Given the description of an element on the screen output the (x, y) to click on. 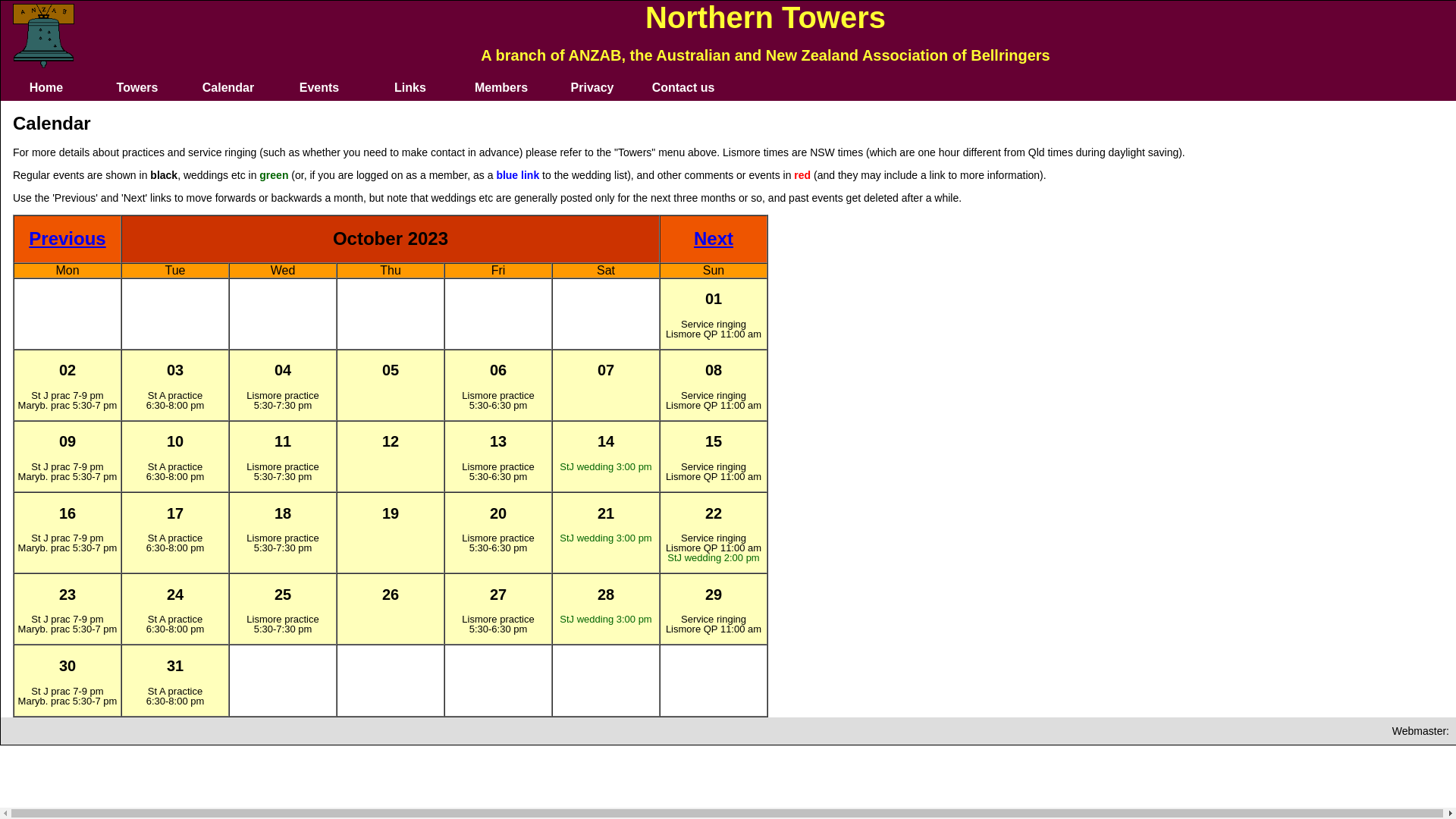
Privacy Element type: text (591, 87)
Home Element type: text (45, 87)
Previous Element type: text (66, 238)
Events Element type: text (318, 87)
Members Element type: text (500, 87)
Next Element type: text (713, 238)
Contact us Element type: text (682, 87)
Calendar Element type: text (227, 87)
Links Element type: text (409, 87)
Towers Element type: text (136, 87)
